Given the description of an element on the screen output the (x, y) to click on. 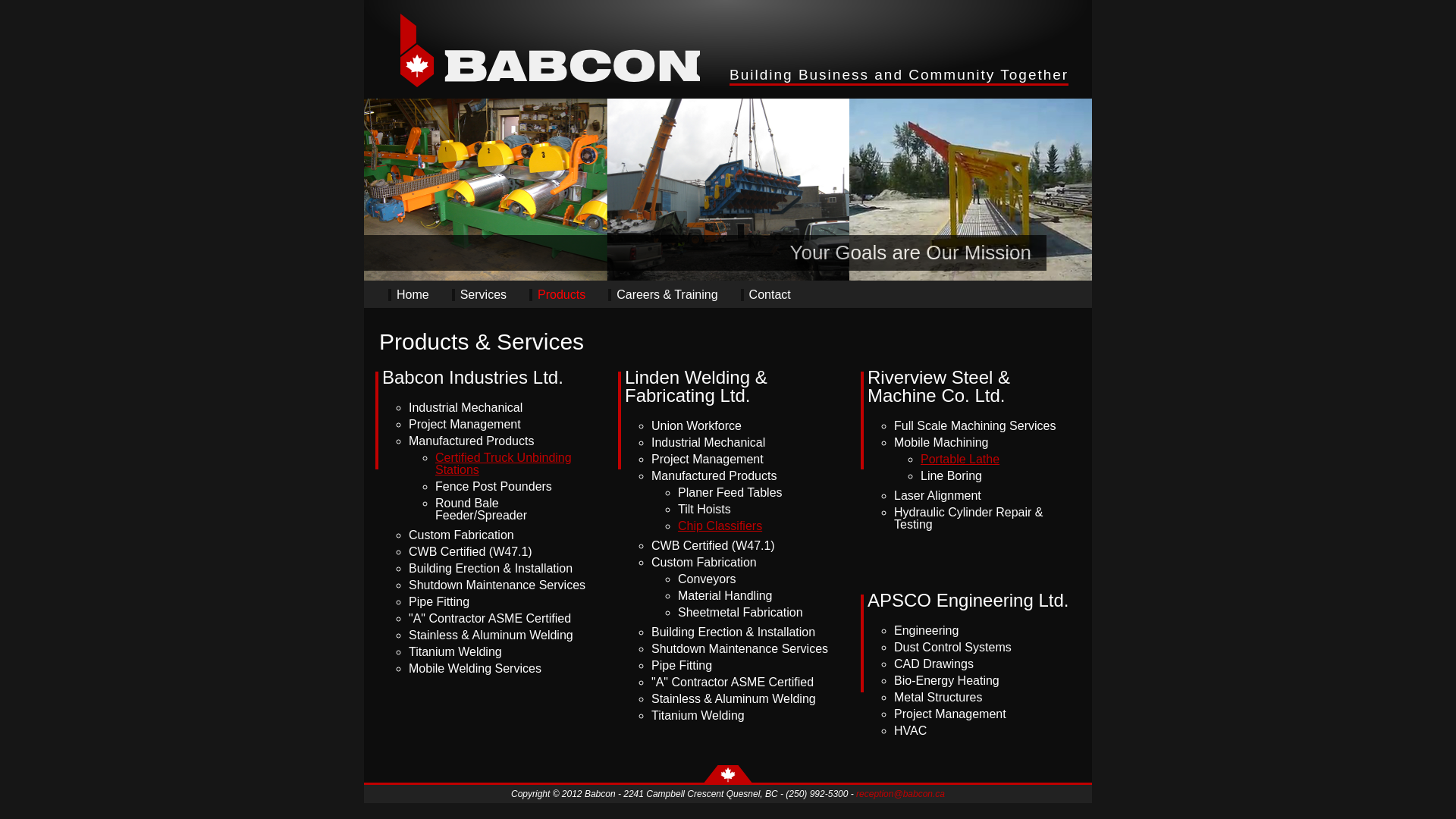
Products Element type: text (557, 294)
Chip Classifiers Element type: text (719, 525)
reception@babcon.ca Element type: text (900, 793)
Contact Element type: text (765, 294)
Certified Truck Unbinding Stations Element type: text (503, 463)
Your Goals are Our Mission Element type: text (910, 252)
Careers & Training Element type: text (662, 294)
Portable Lathe Element type: text (959, 458)
Home Element type: text (408, 294)
Services Element type: text (478, 294)
